Given the description of an element on the screen output the (x, y) to click on. 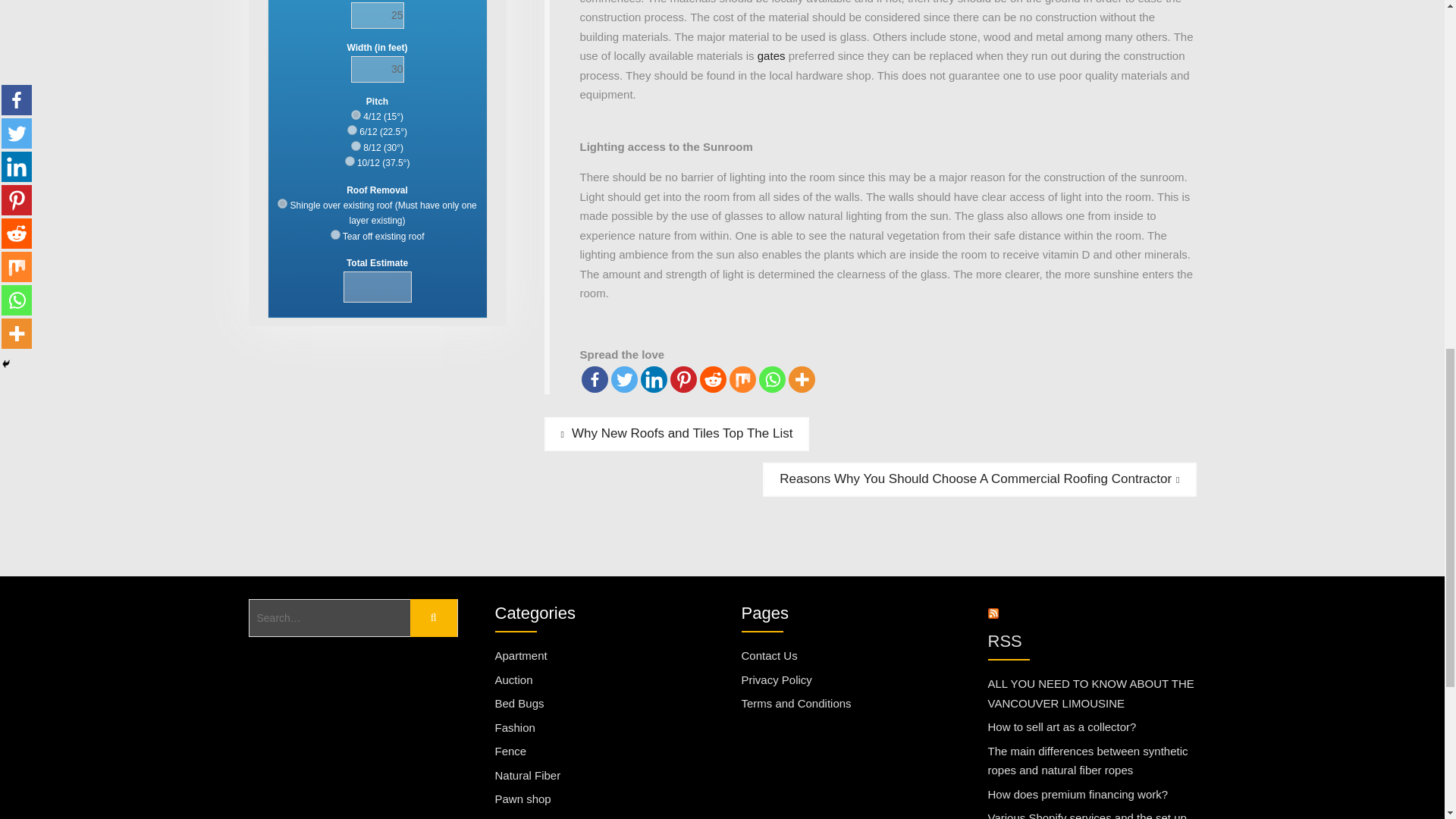
Facebook (593, 379)
Whatsapp (771, 379)
gates (771, 55)
25 (376, 15)
Linkedin (653, 379)
Twitter (624, 379)
Pinterest (683, 379)
keep (282, 203)
Mix (742, 379)
30 (376, 69)
Reddit (711, 379)
More (802, 379)
remove (335, 234)
